Given the description of an element on the screen output the (x, y) to click on. 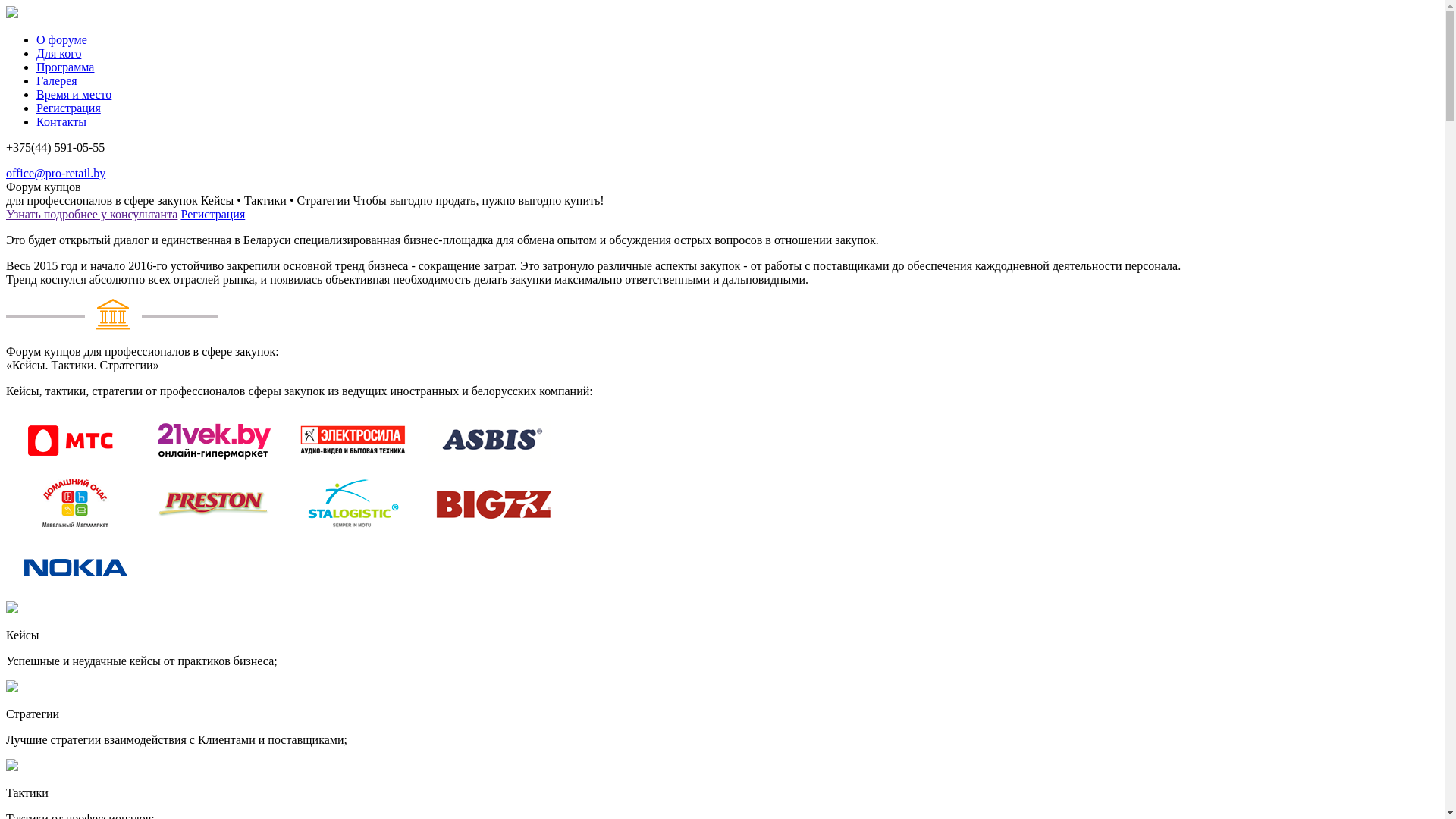
office@pro-retail.by Element type: text (55, 172)
